Given the description of an element on the screen output the (x, y) to click on. 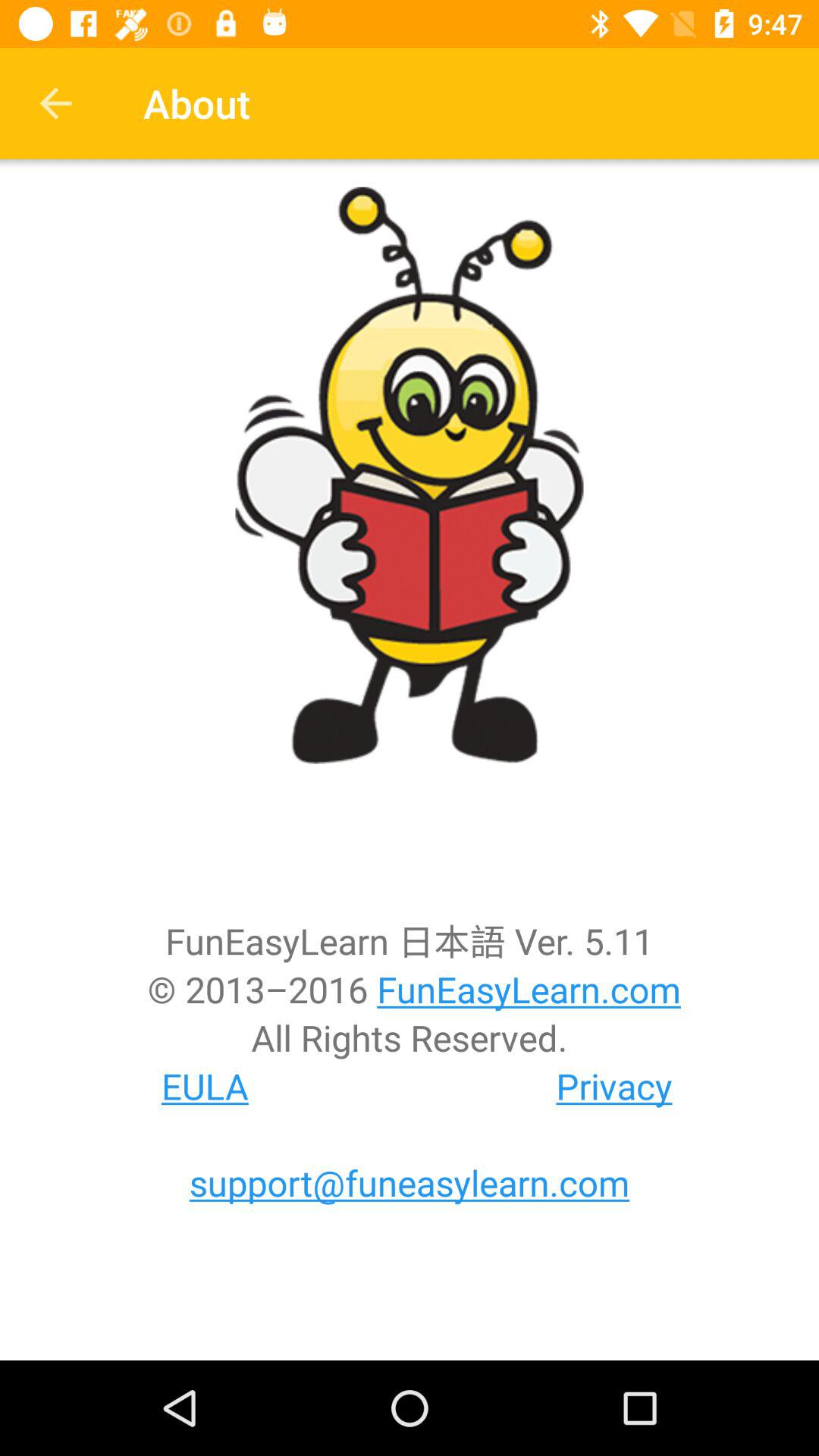
launch the item at the bottom right corner (614, 1085)
